Given the description of an element on the screen output the (x, y) to click on. 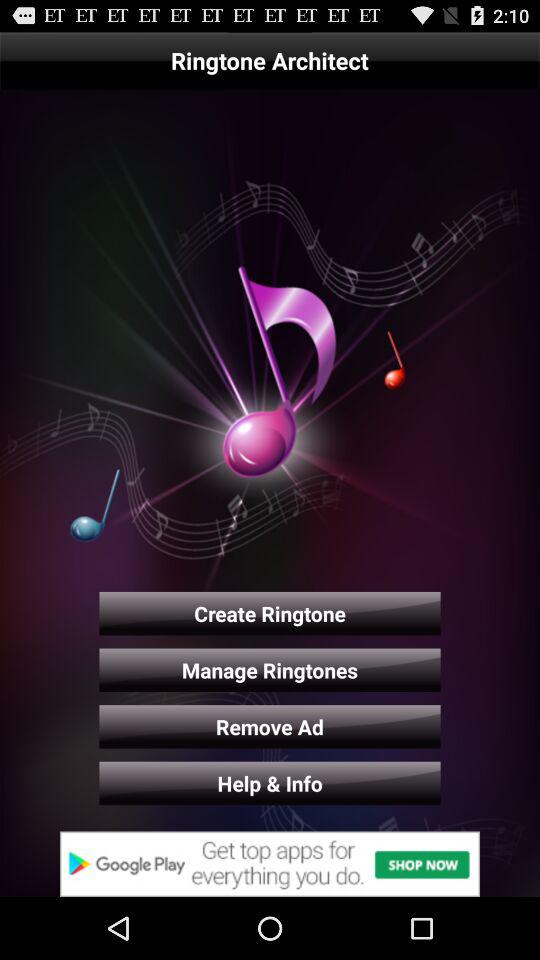
open advertisement (270, 864)
